Given the description of an element on the screen output the (x, y) to click on. 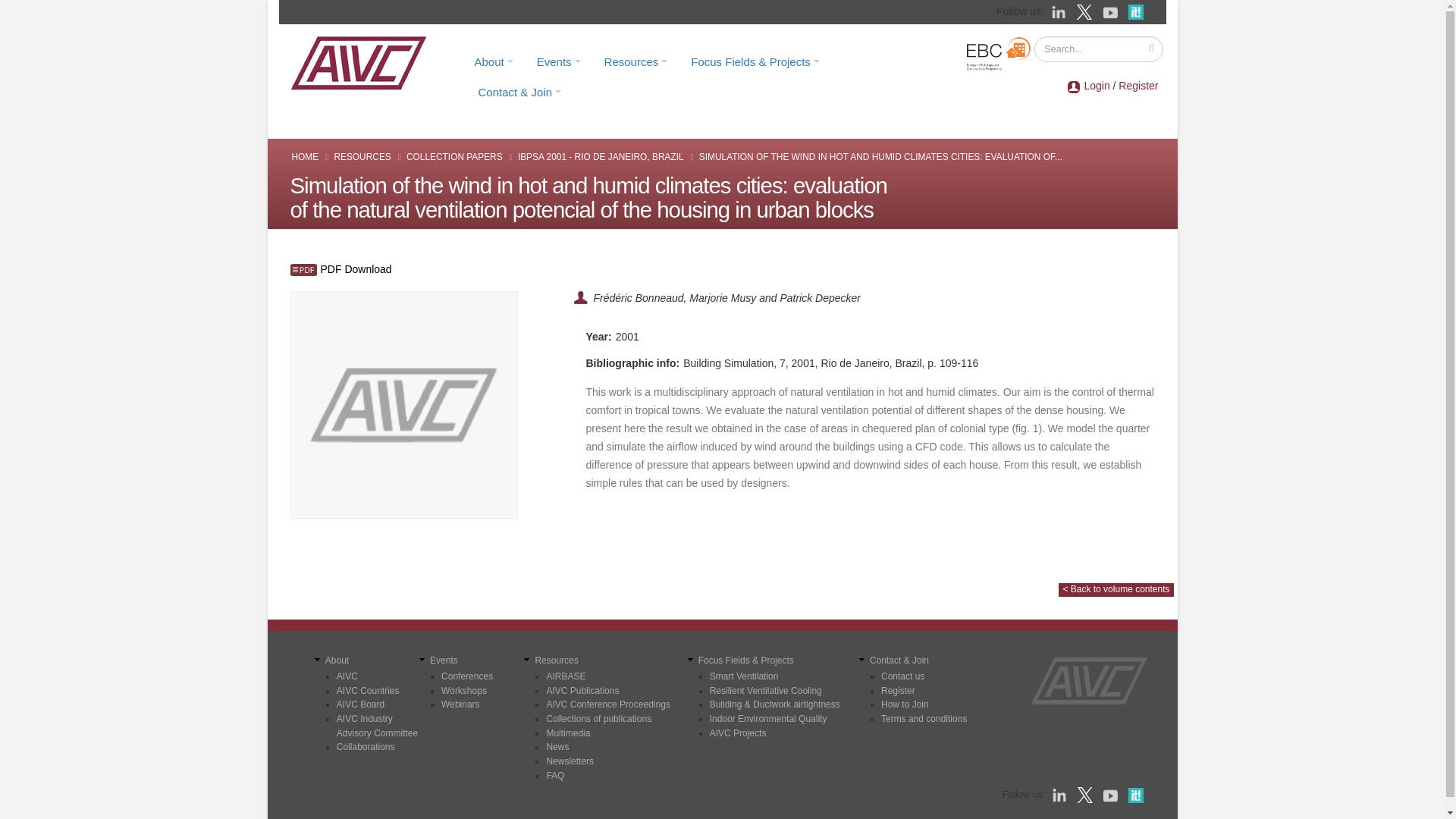
About (493, 61)
Events (559, 61)
Go to AIVC YouTube page (1111, 10)
Go to AIVC twitter page (1086, 10)
About AIVC (493, 61)
Go to AIVC LinkedIn page (1059, 10)
Login (1096, 85)
Home (362, 61)
Resources (636, 61)
Go to INIVE sccop.it page (1139, 10)
